Given the description of an element on the screen output the (x, y) to click on. 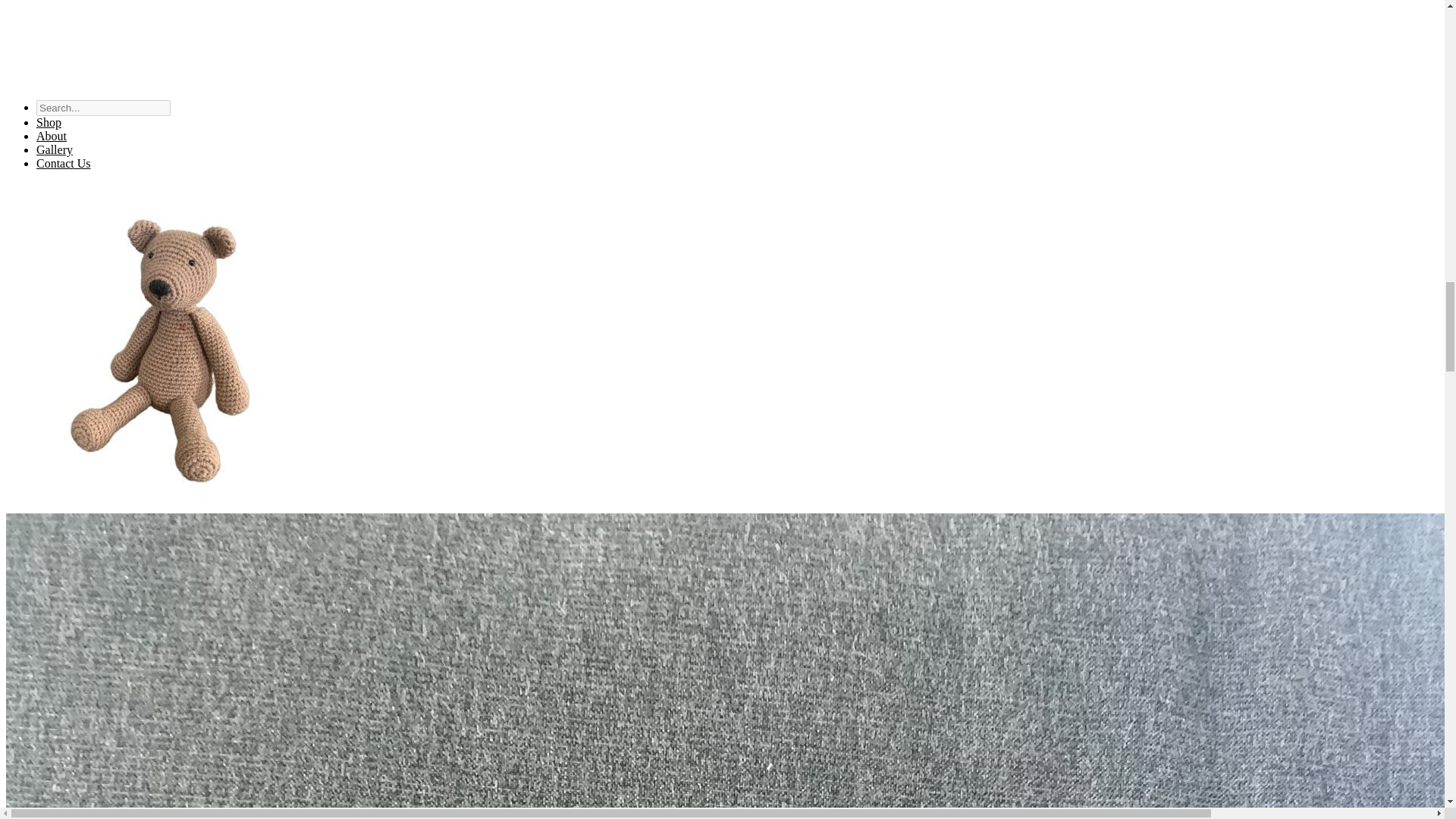
Home (721, 42)
Contact Us (63, 163)
About (51, 135)
Gallery (54, 149)
Shop (48, 122)
